Given the description of an element on the screen output the (x, y) to click on. 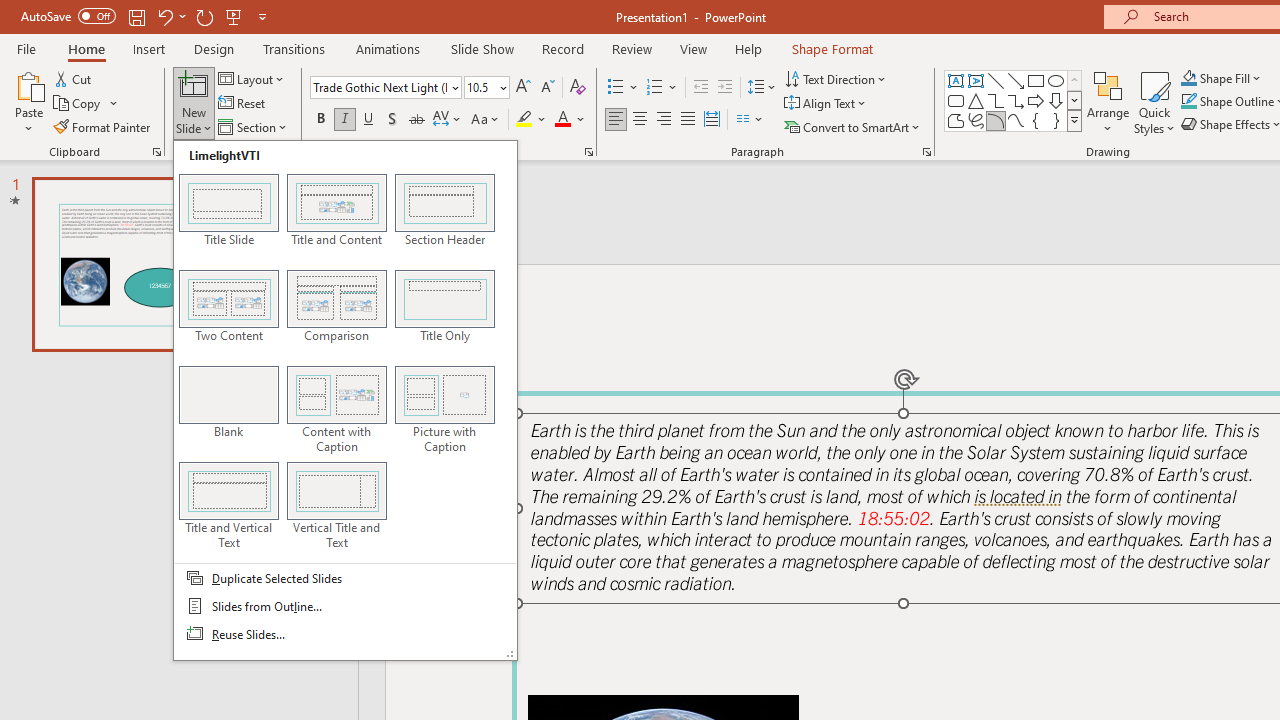
Shape Outline Teal, Accent 1 (1188, 101)
Shape Fill Aqua, Accent 2 (1188, 78)
